Given the description of an element on the screen output the (x, y) to click on. 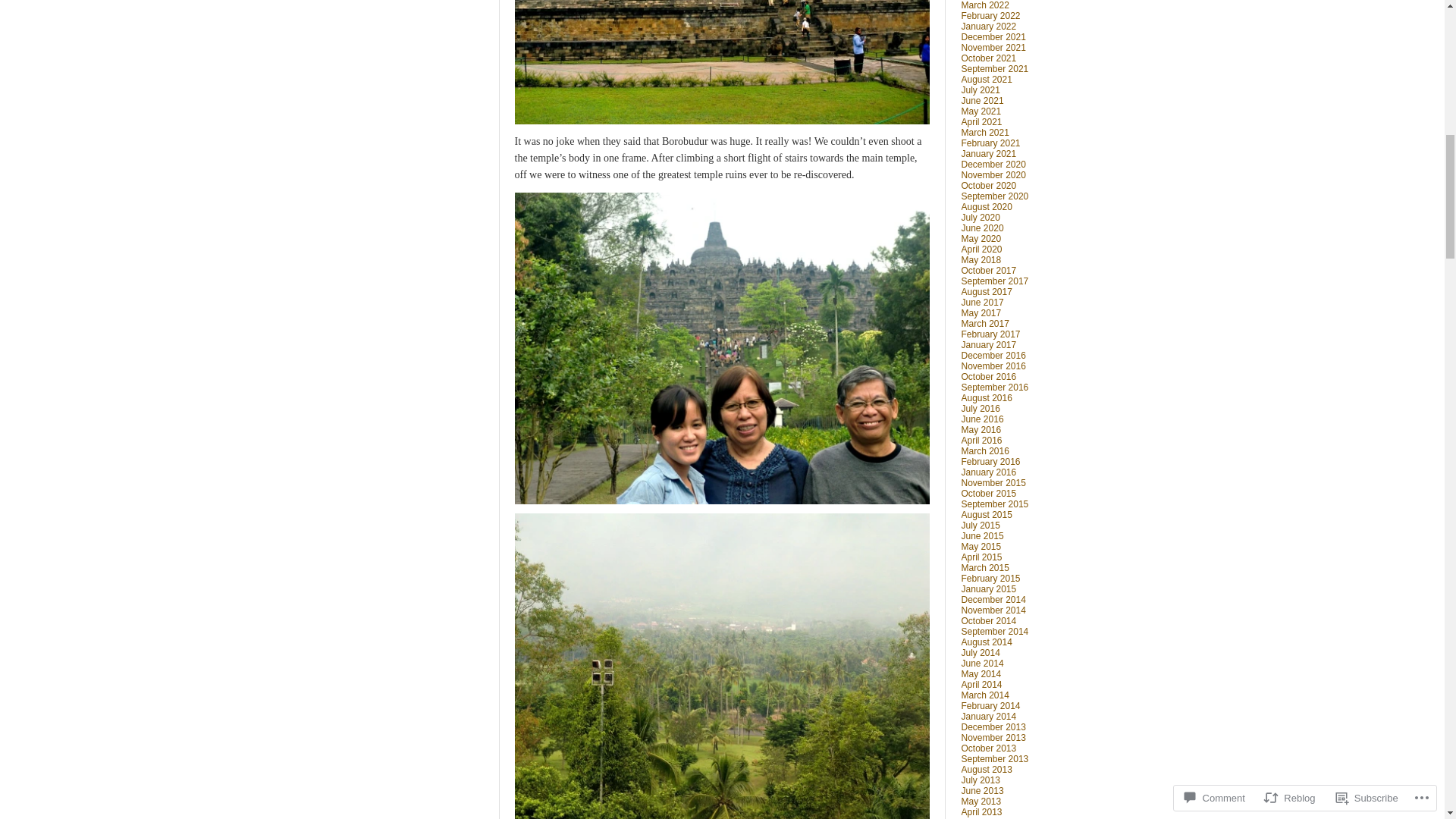
borobudur (720, 62)
trees (720, 666)
pathway (720, 347)
